Given the description of an element on the screen output the (x, y) to click on. 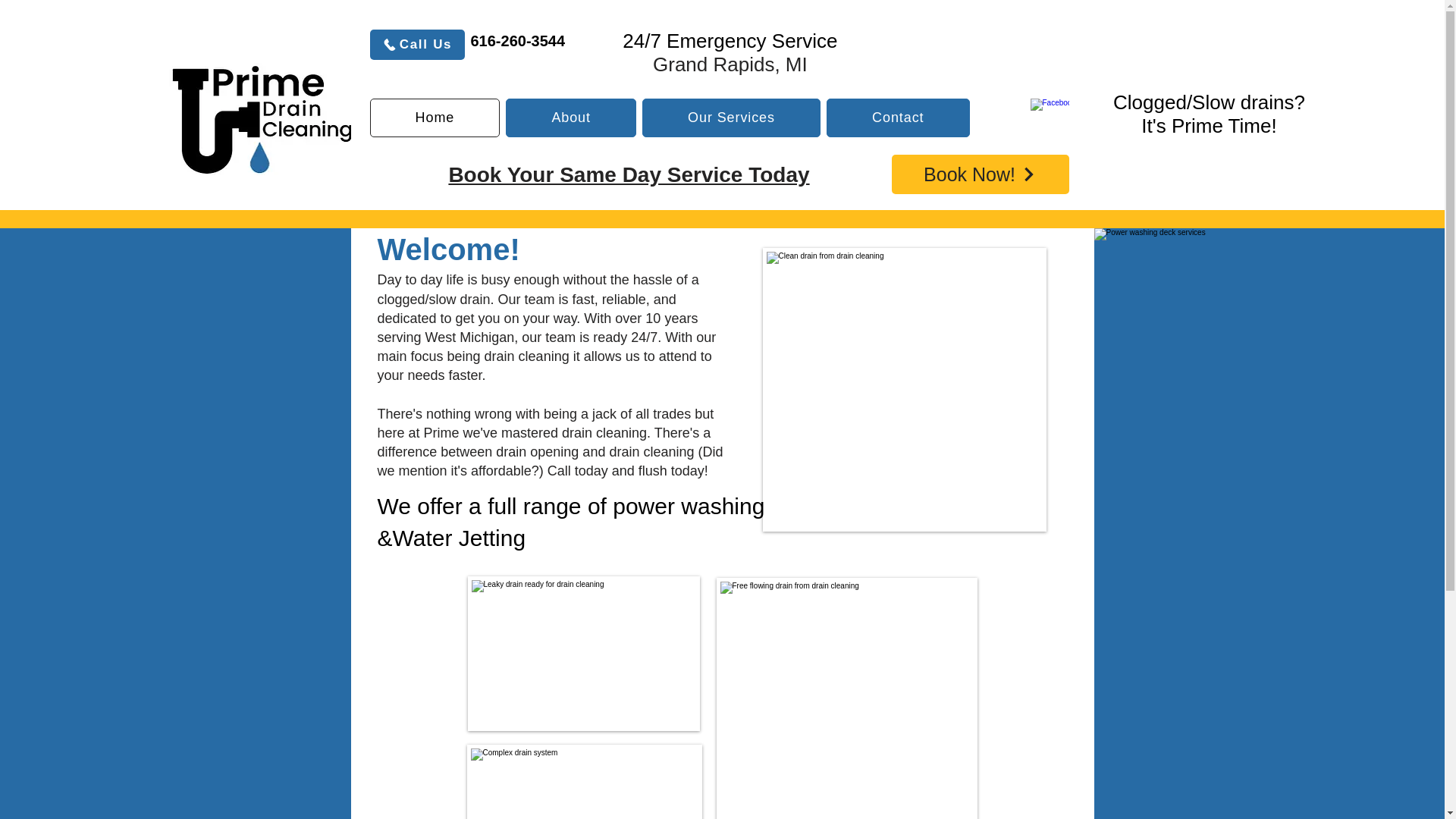
Leaky Sink Drain Pipe (582, 653)
Home (434, 117)
Book Your Same Day Service Today (628, 174)
Prime Drain Cleaning Logo (259, 119)
Contact (898, 117)
Call Us (416, 44)
About (570, 117)
Pressure Washer on Stairs (176, 379)
Our Services (731, 117)
Book Now! (979, 174)
